Given the description of an element on the screen output the (x, y) to click on. 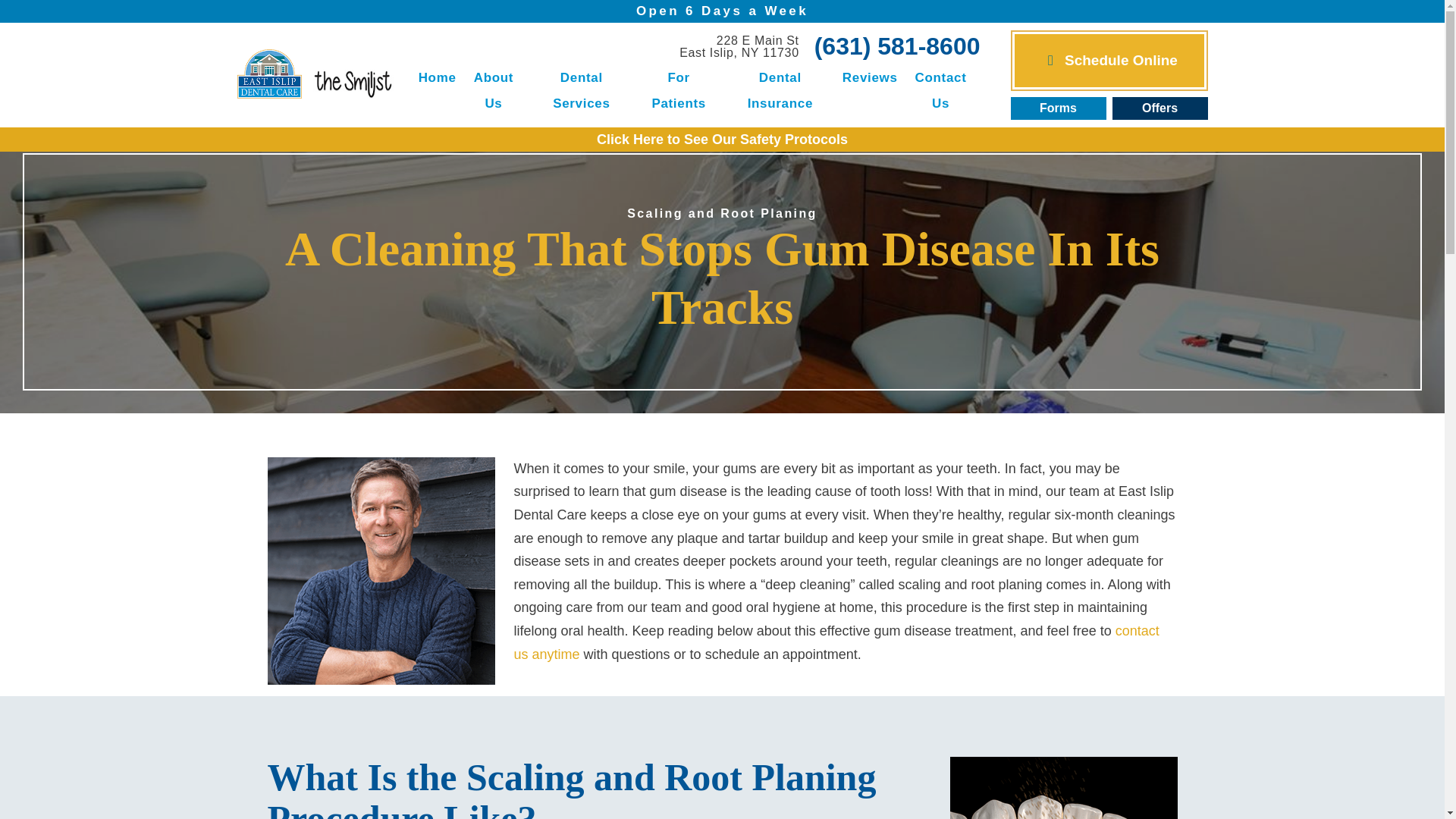
Forms (738, 46)
Dental Services (1057, 108)
Home (580, 91)
About Us (437, 77)
Schedule Online (493, 91)
Offers (1108, 60)
